Given the description of an element on the screen output the (x, y) to click on. 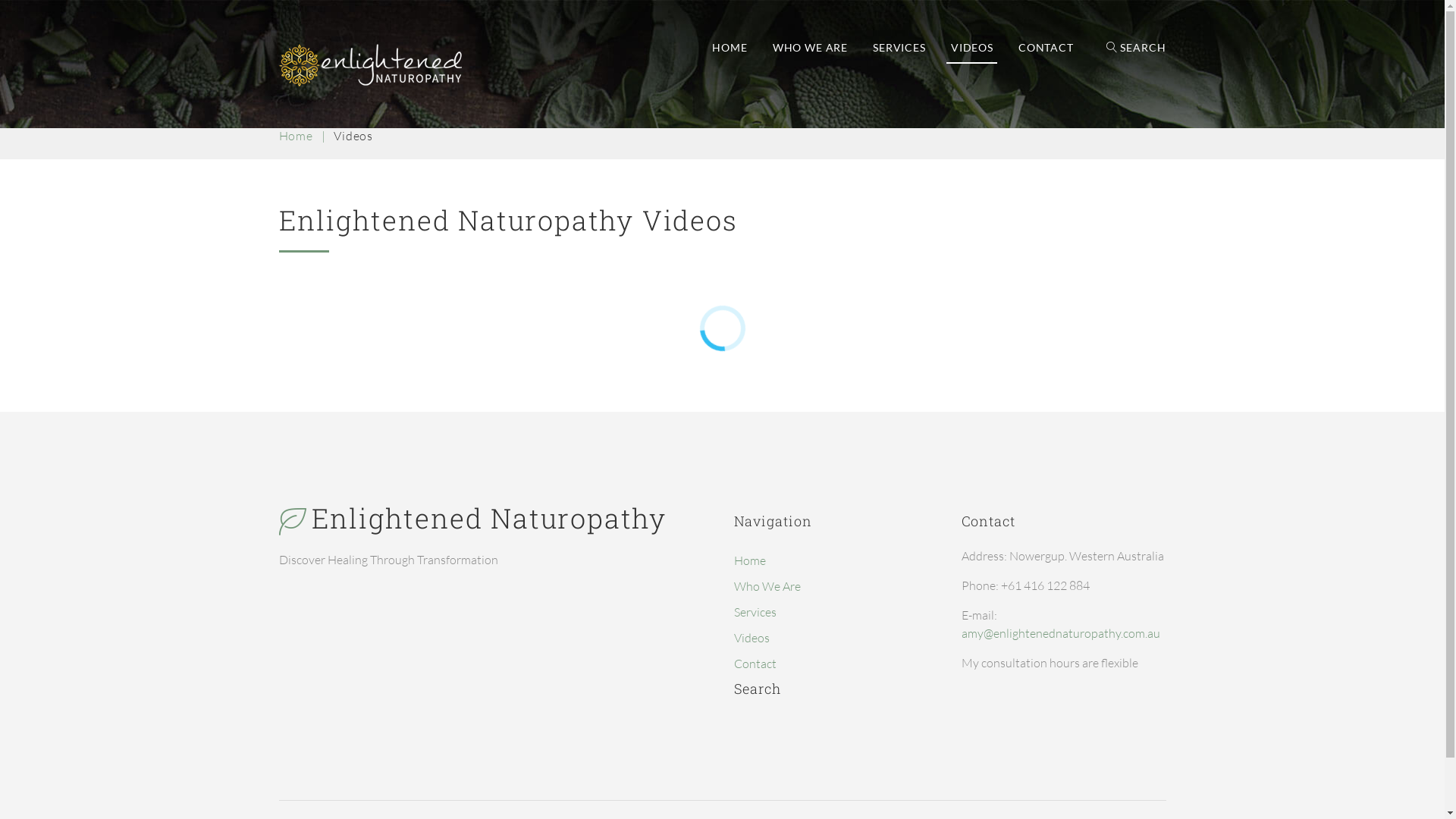
Enlightened Naturopathy Element type: hover (370, 64)
HOME Element type: text (729, 47)
Videos Element type: text (751, 637)
Home Element type: text (296, 135)
amy@enlightenednaturopathy.com.au Element type: text (1060, 632)
CONTACT Element type: text (1045, 47)
Contact Element type: text (755, 663)
Who We Are Element type: text (767, 585)
SERVICES Element type: text (898, 47)
VIDEOS Element type: text (971, 47)
Home Element type: text (749, 559)
Services Element type: text (755, 611)
